Given the description of an element on the screen output the (x, y) to click on. 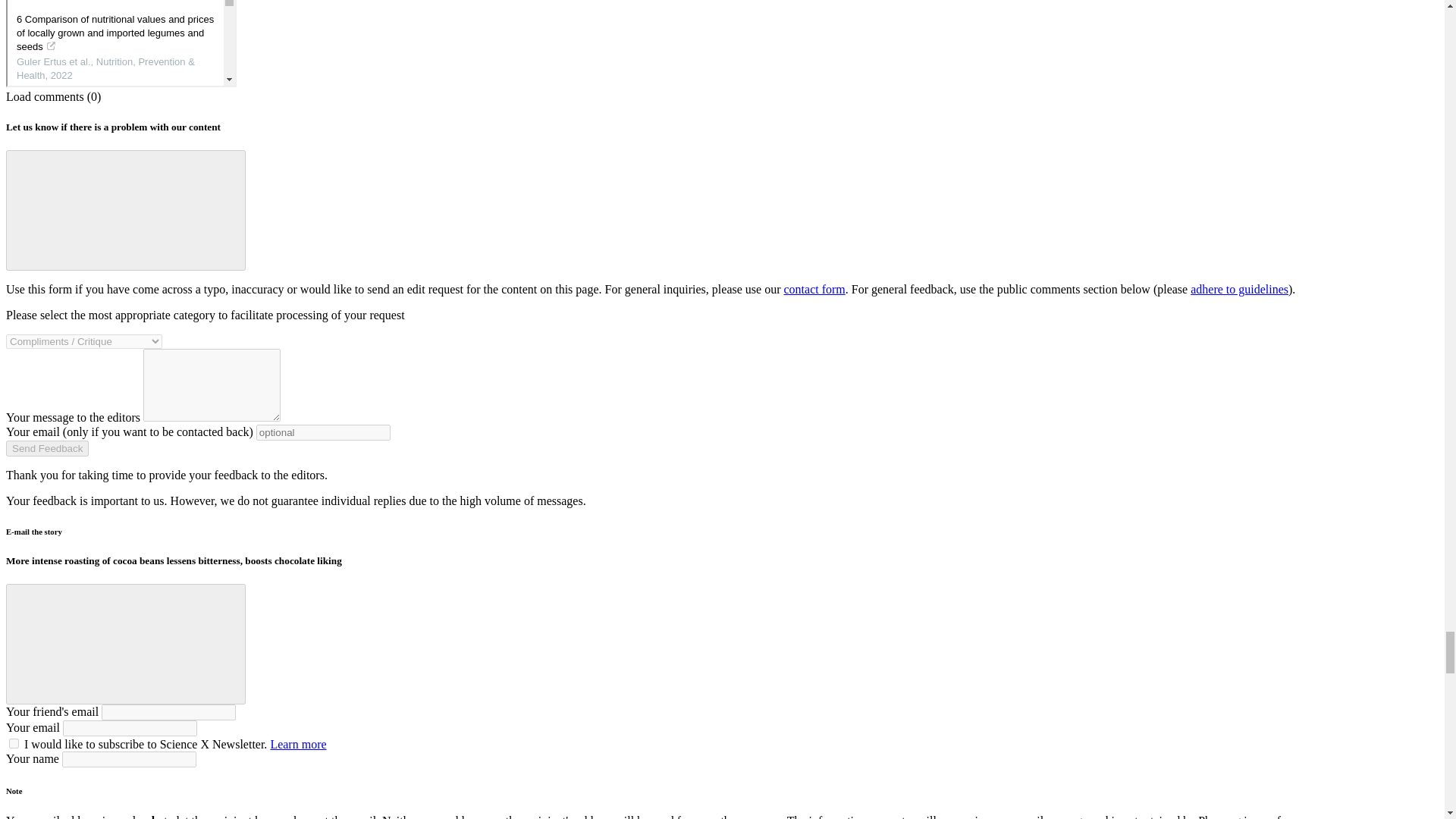
1 (13, 743)
